Given the description of an element on the screen output the (x, y) to click on. 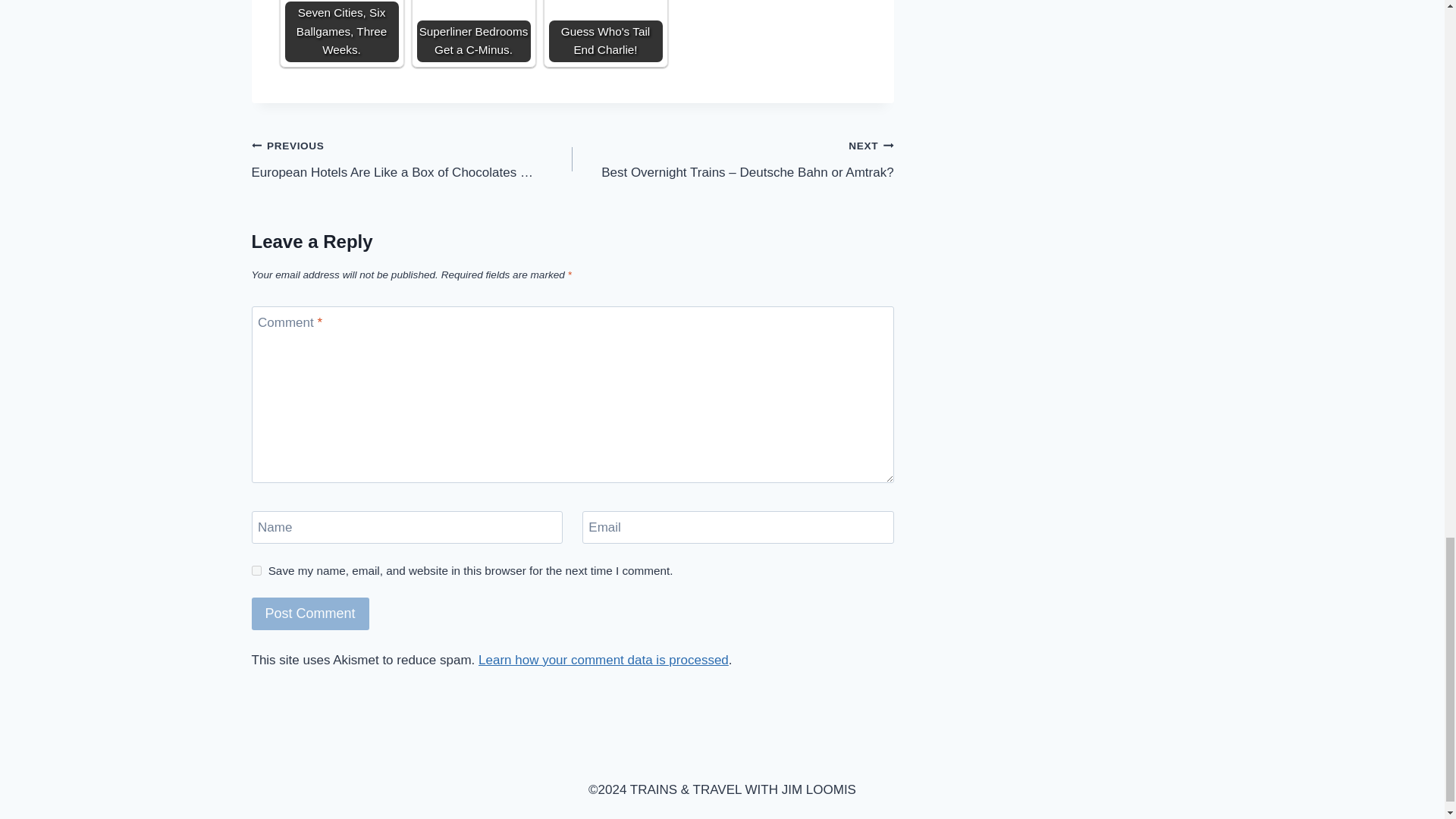
Seven Cities,  Six Ballgames, Three Weeks. (341, 31)
yes (256, 570)
Guess Who's Tail End Charlie! (605, 31)
Post Comment (310, 613)
Superliner Bedrooms Get a C-Minus. (473, 24)
Guess Who's Tail End Charlie! (605, 31)
Seven Cities, Six Ballgames, Three Weeks. (341, 31)
Superliner Bedrooms Get a C-Minus. (473, 31)
